Given the description of an element on the screen output the (x, y) to click on. 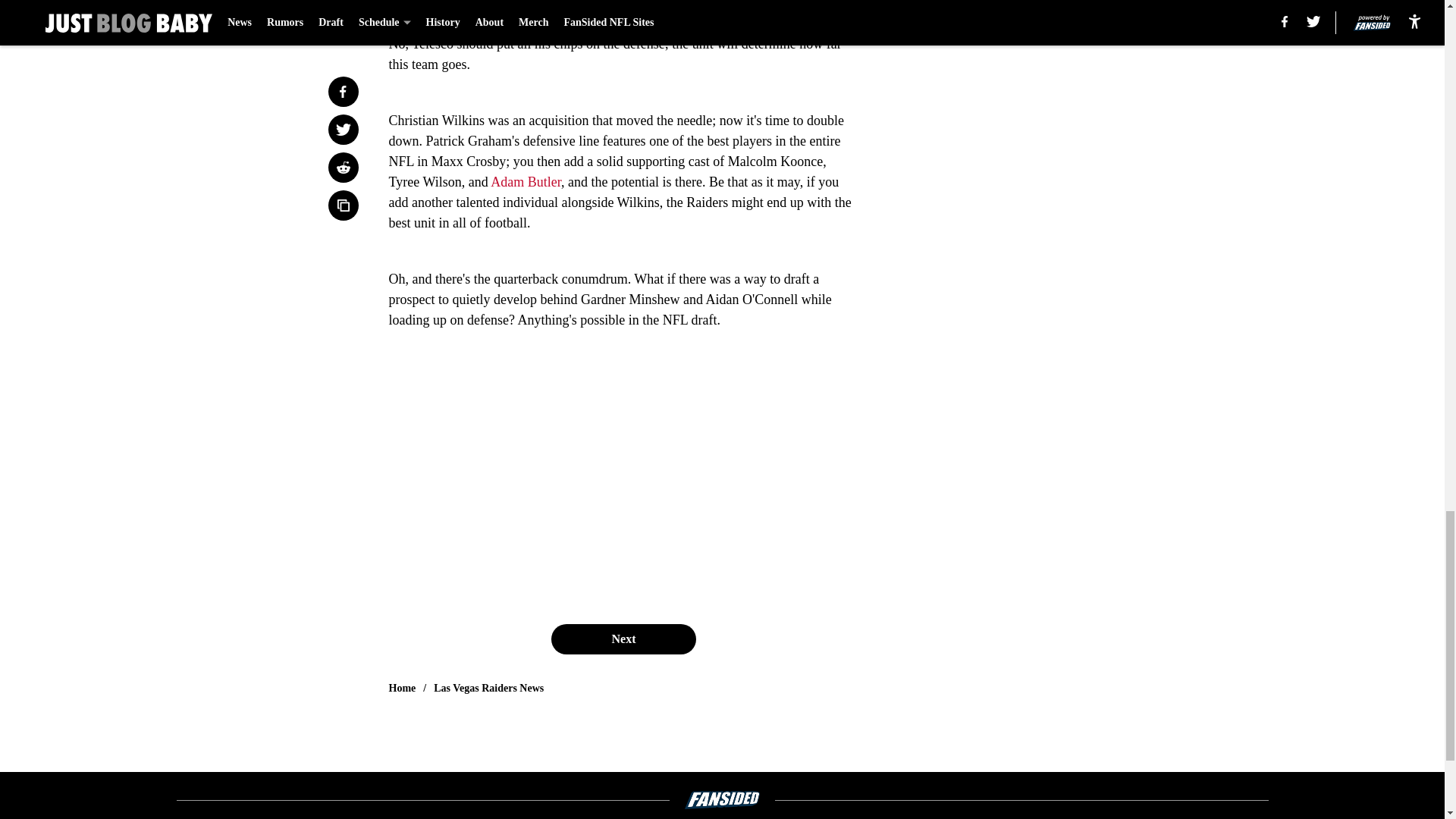
Home (401, 688)
Adam Butler (525, 181)
Next (622, 639)
Las Vegas Raiders News (488, 688)
